Given the description of an element on the screen output the (x, y) to click on. 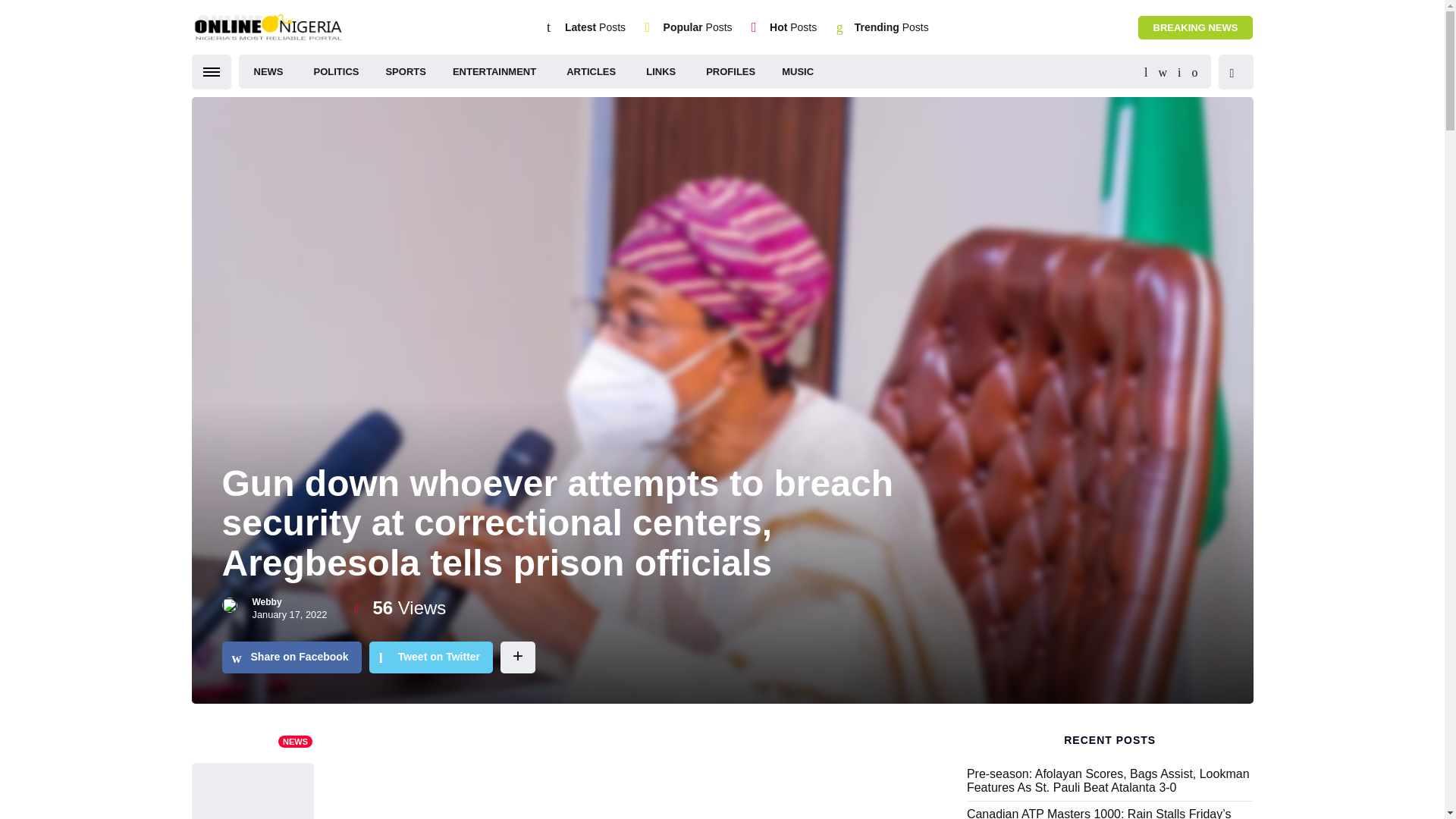
Popular Posts (697, 26)
BREAKING NEWS (1195, 27)
Trending Posts (891, 26)
Hot Posts (793, 26)
Latest Posts (595, 26)
Posts by Webby (266, 602)
